Given the description of an element on the screen output the (x, y) to click on. 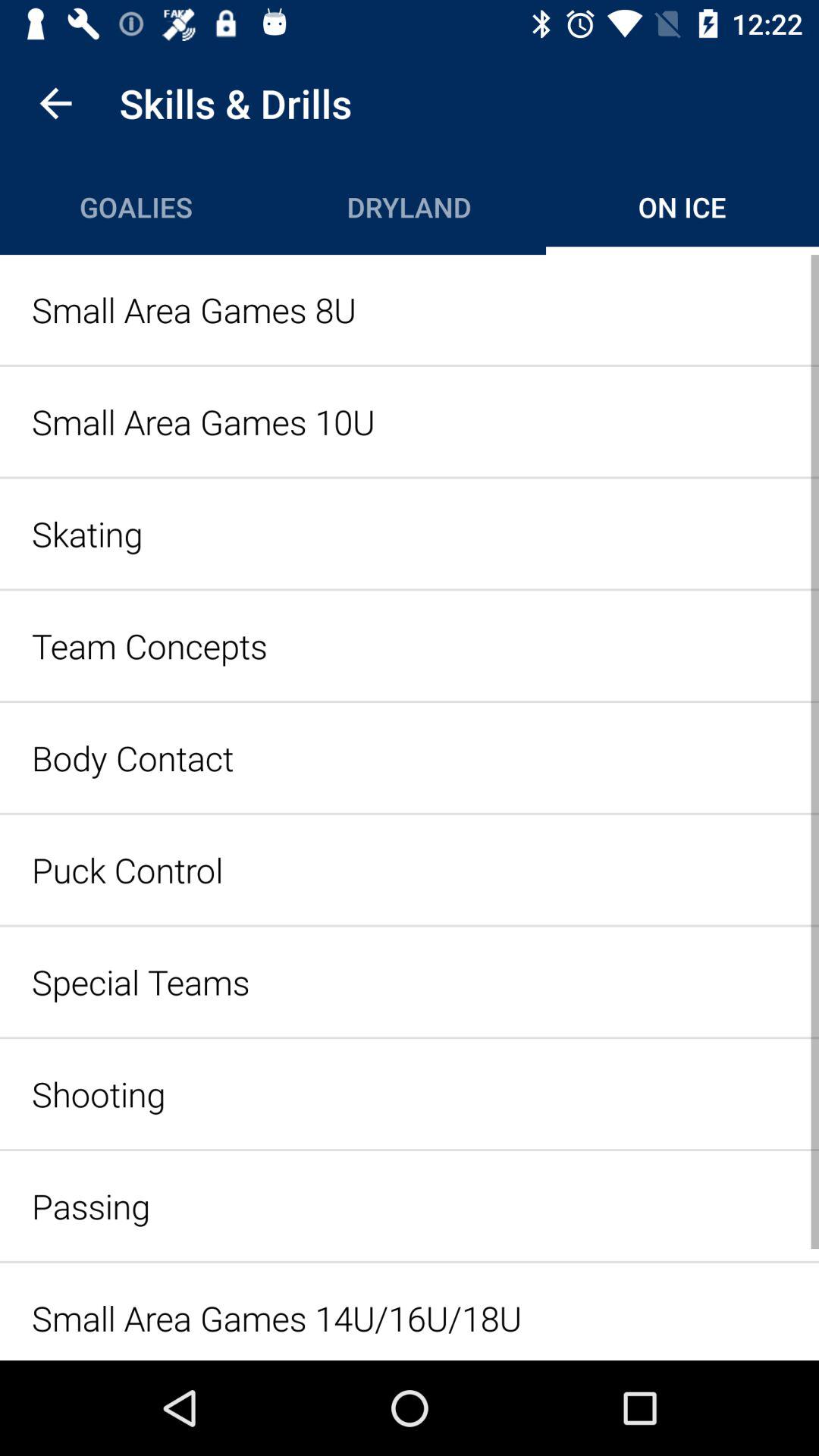
select puck control icon (409, 869)
